Given the description of an element on the screen output the (x, y) to click on. 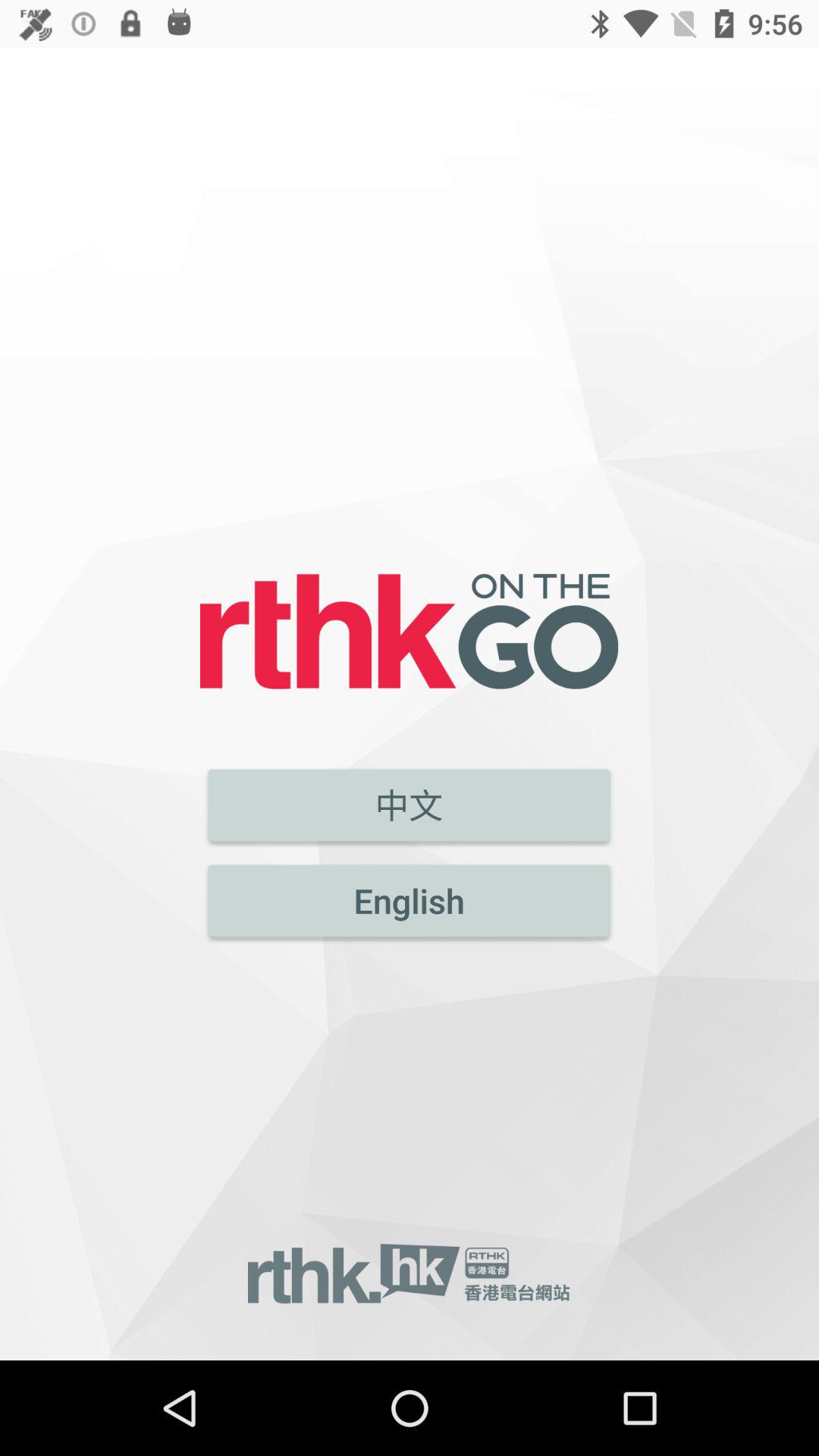
scroll until english item (409, 900)
